Given the description of an element on the screen output the (x, y) to click on. 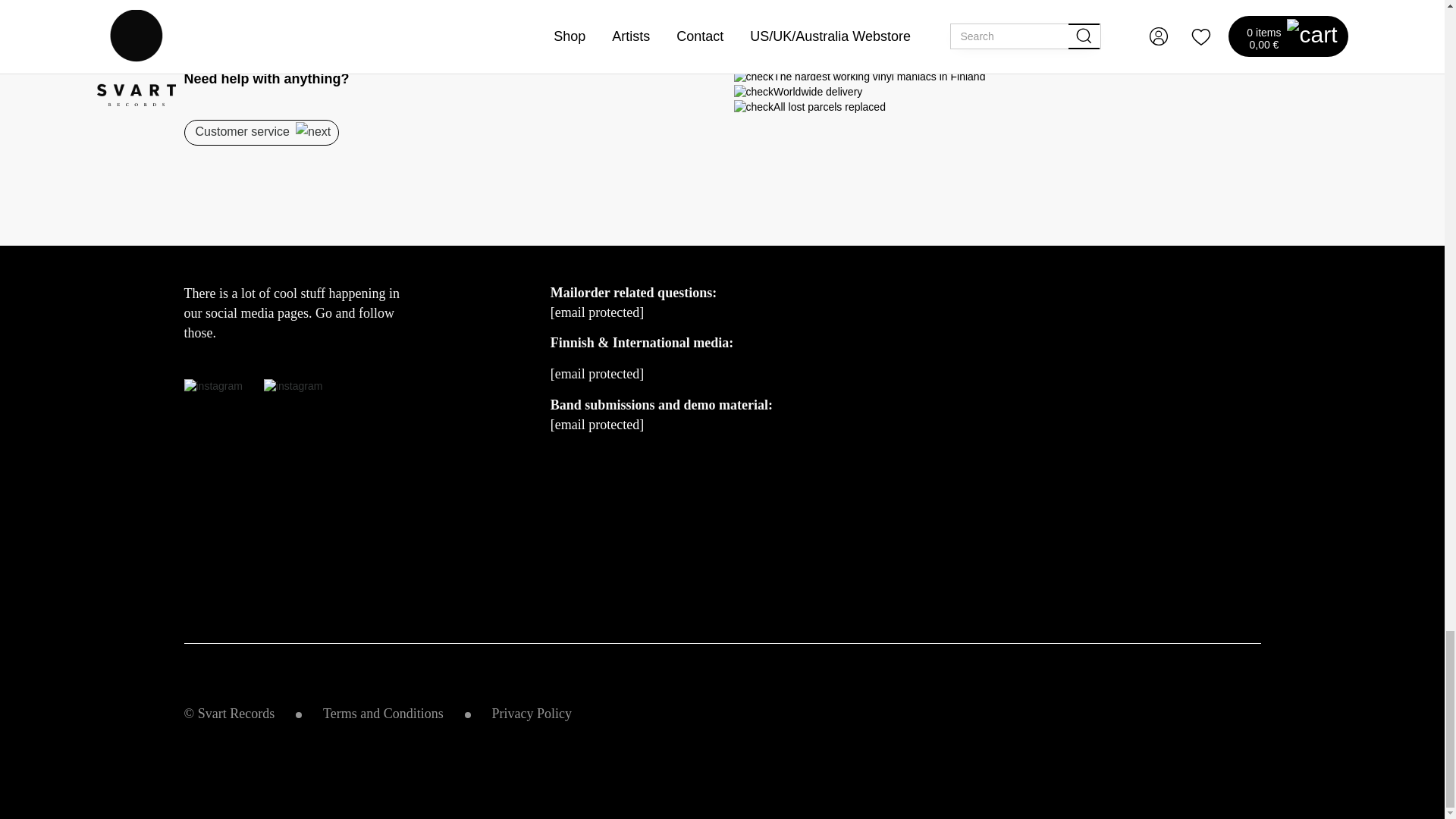
check (753, 92)
next (312, 131)
check (753, 107)
check (753, 77)
